Given the description of an element on the screen output the (x, y) to click on. 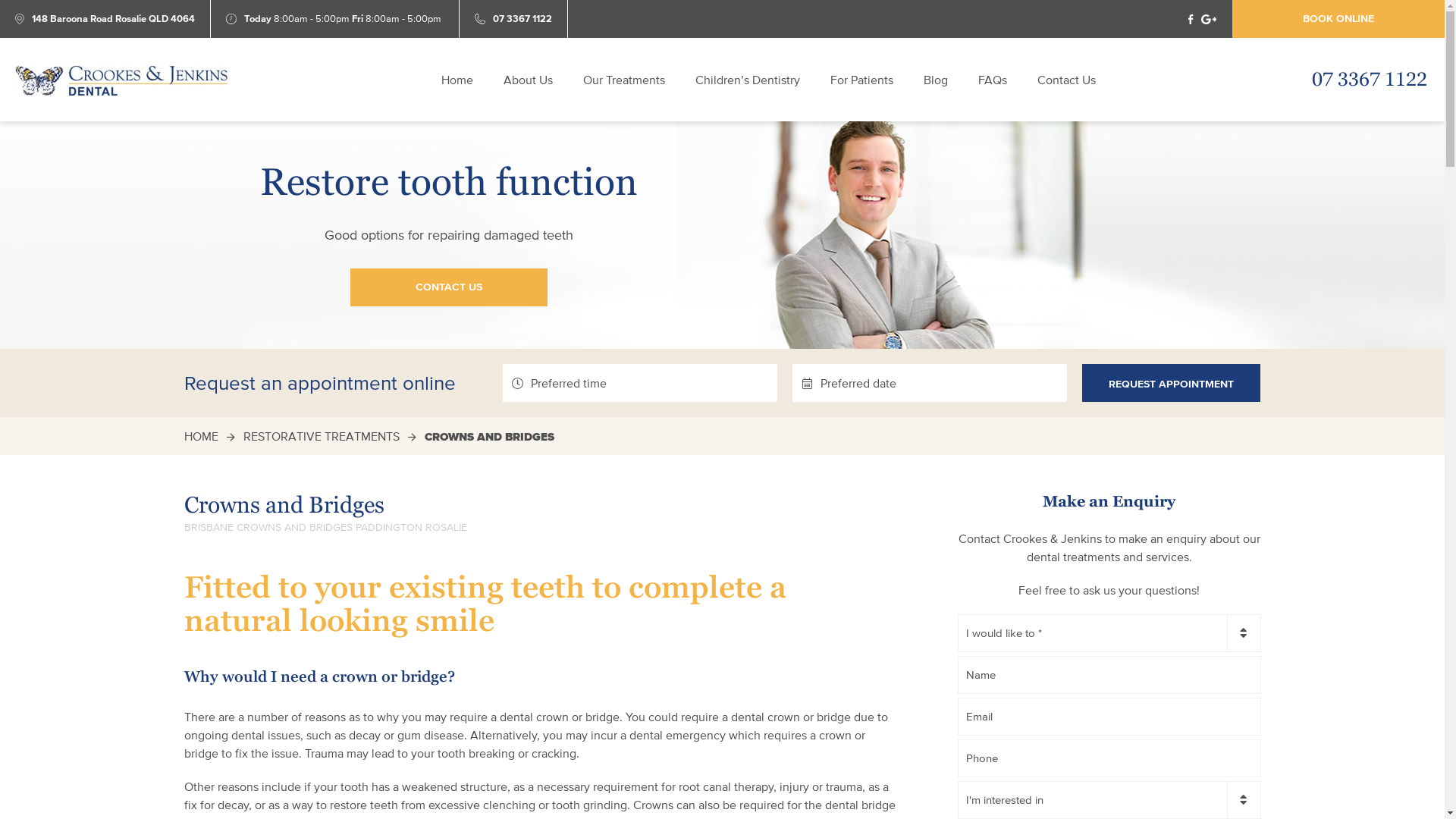
Facebook Element type: hover (1190, 18)
RESTORATIVE TREATMENTS Element type: text (320, 435)
Contact Us Element type: text (1066, 79)
Home Element type: text (457, 79)
For Patients Element type: text (861, 79)
REQUEST APPOINTMENT Element type: text (1171, 382)
Our Treatments Element type: text (624, 79)
Google Plus Element type: hover (1208, 18)
Blog Element type: text (935, 79)
FAQs Element type: text (992, 79)
Crowns and Bridges Element type: hover (121, 79)
07 3367 1122 Element type: text (522, 18)
BOOK ONLINE Element type: text (1338, 18)
148 Baroona Road Rosalie QLD 4064 Element type: text (112, 18)
07 3367 1122 Element type: text (1369, 80)
About Us Element type: text (527, 79)
CONTACT US Element type: text (448, 287)
HOME Element type: text (200, 435)
